Given the description of an element on the screen output the (x, y) to click on. 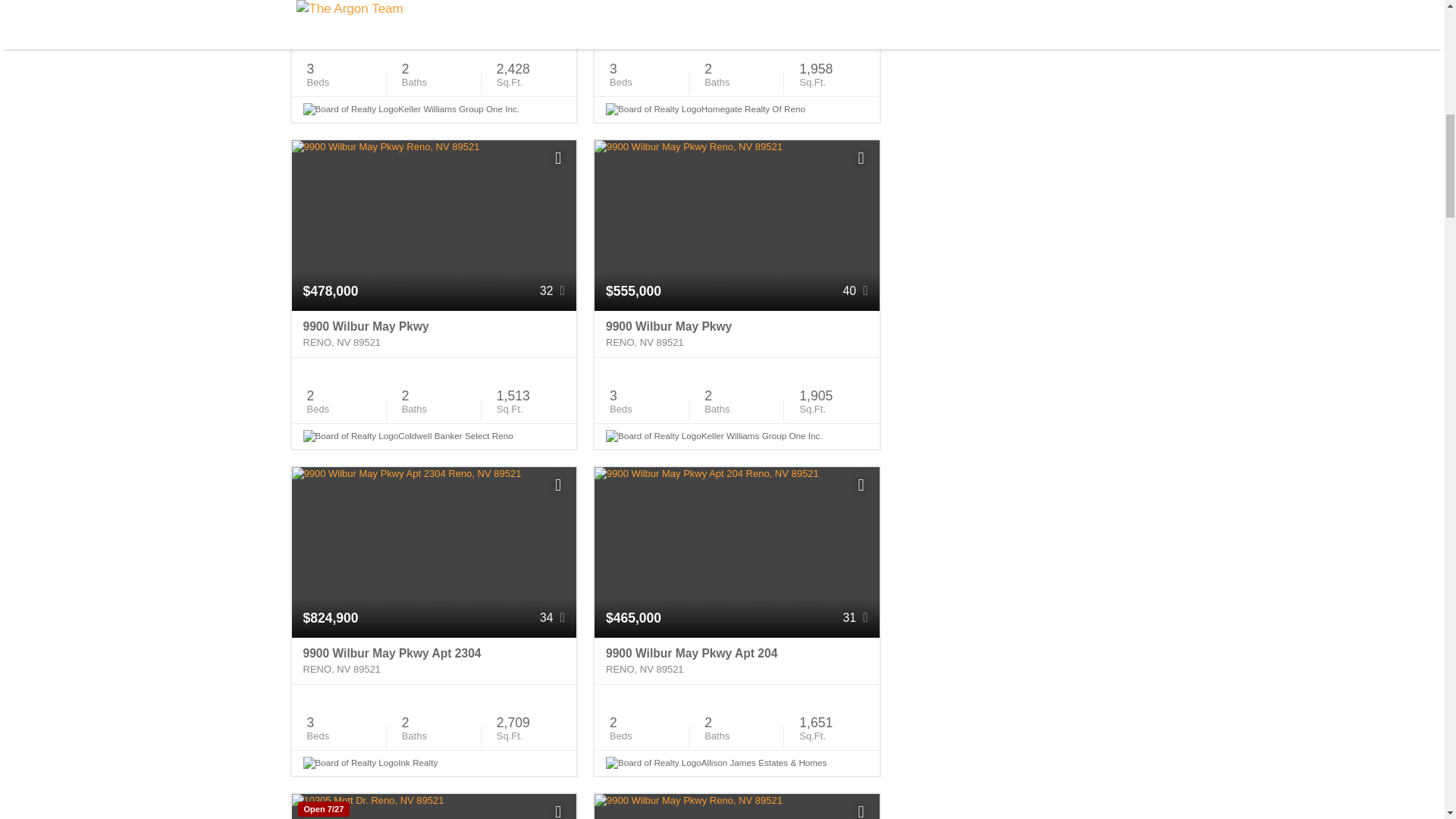
9900 Wilbur May Pkwy Reno,  NV 89521 (433, 334)
9900 Wilbur May Pkwy Apt 2304 Reno,  NV 89521 (433, 661)
9900 Wilbur May Parkway Reno,  NV 89521 (736, 15)
9900 Wilbur May Pkwy Apt 204 Reno,  NV 89521 (736, 661)
9900 Wilbur May Pkwy Reno,  NV 89521 (433, 15)
9900 Wilbur May Pkwy Reno,  NV 89521 (736, 334)
